Given the description of an element on the screen output the (x, y) to click on. 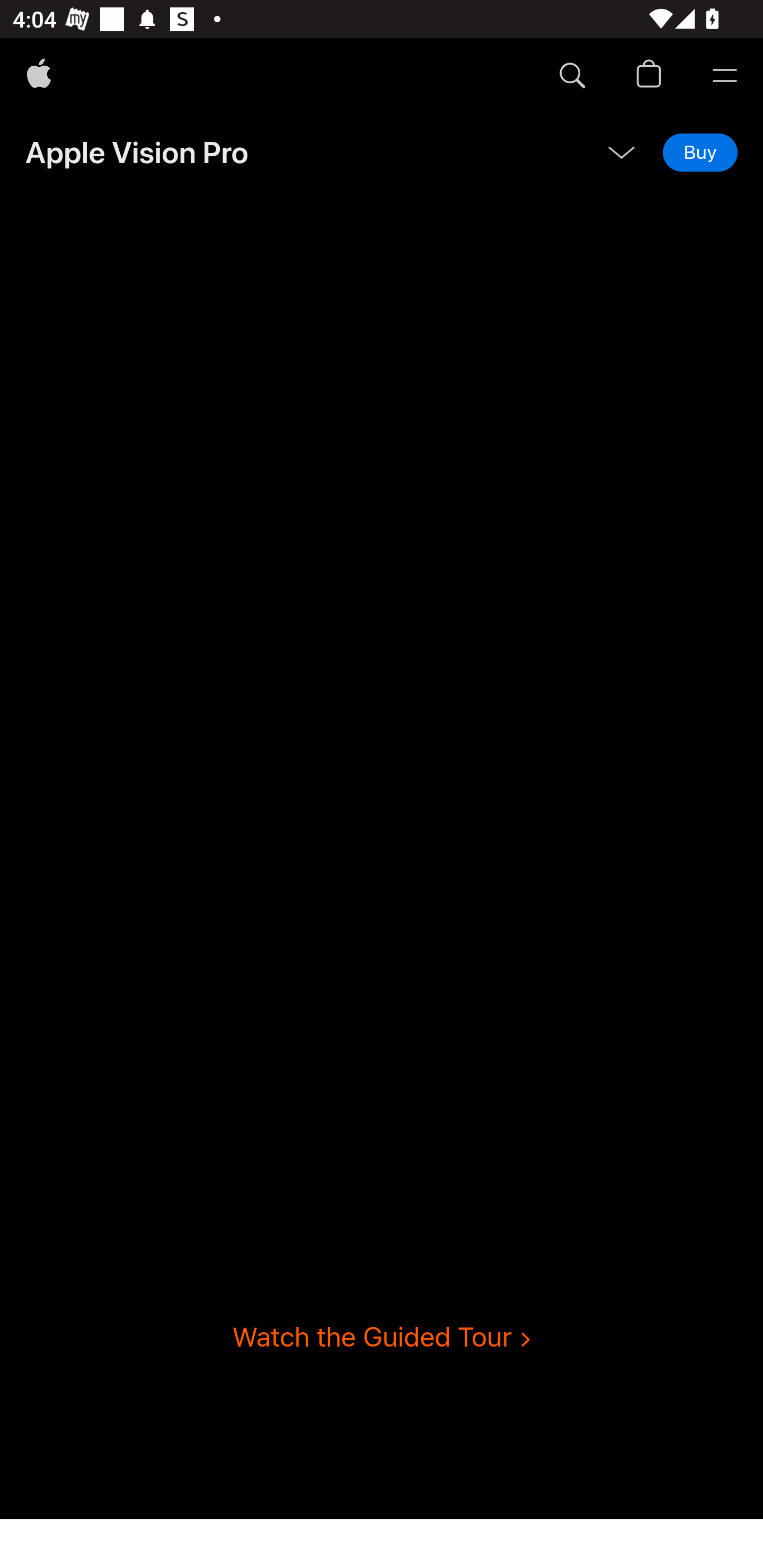
Apple (38, 75)
Search apple.com (572, 75)
Shopping Bag (648, 75)
Menu (724, 75)
Apple Vision Pro (137, 151)
Buy Apple Vision Pro Buy Apple Vision Pro (700, 151)
Watch the guided tour Watch the Guided Tour  (381, 1337)
